Given the description of an element on the screen output the (x, y) to click on. 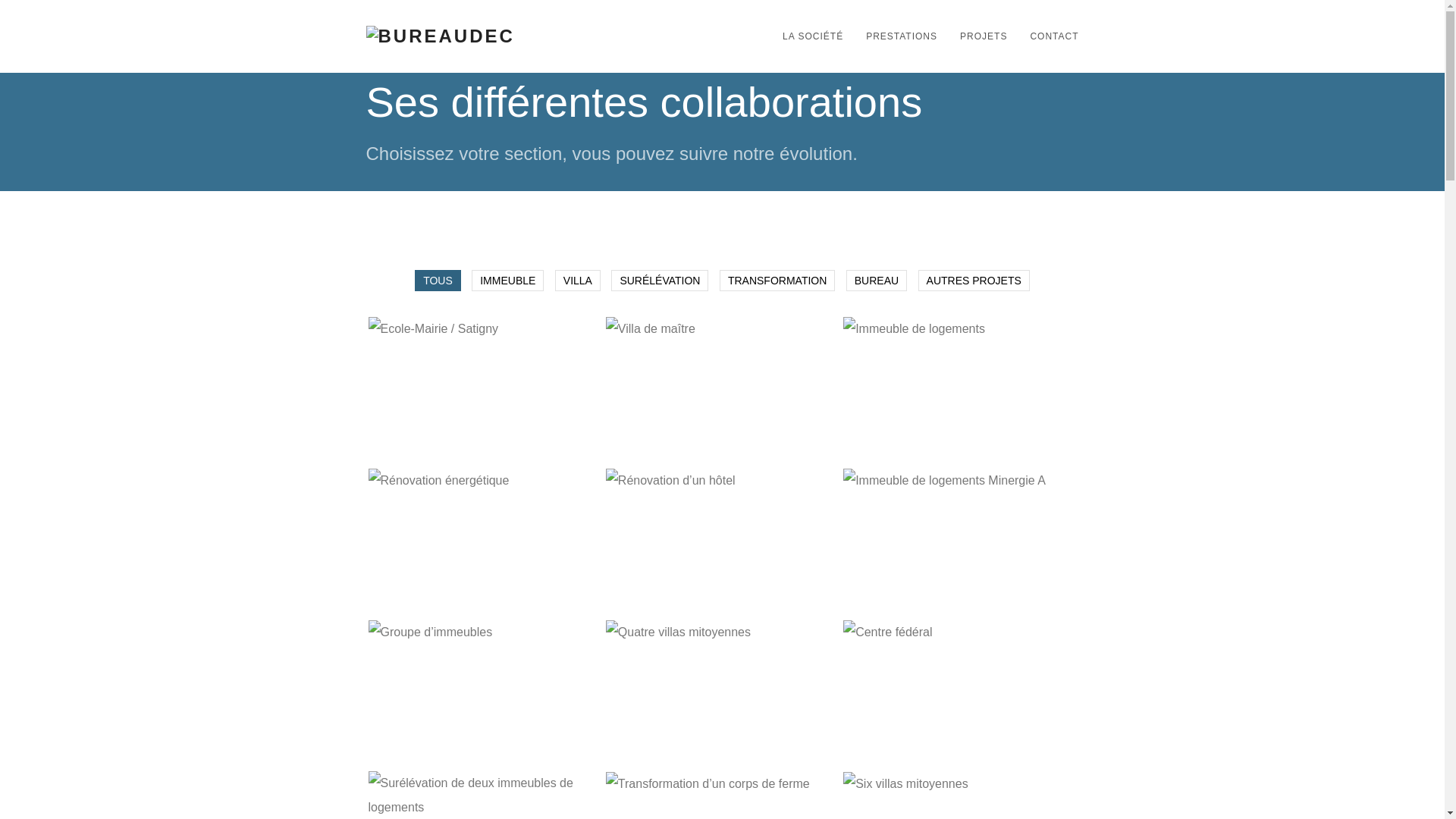
BUREAU Element type: text (876, 280)
TOUS Element type: text (437, 280)
CONTACT Element type: text (1048, 36)
AUTRES PROJETS Element type: text (973, 280)
VILLA Element type: text (577, 280)
IMMEUBLE Element type: text (507, 280)
PROJETS Element type: text (977, 36)
TRANSFORMATION Element type: text (776, 280)
PRESTATIONS Element type: text (895, 36)
